Given the description of an element on the screen output the (x, y) to click on. 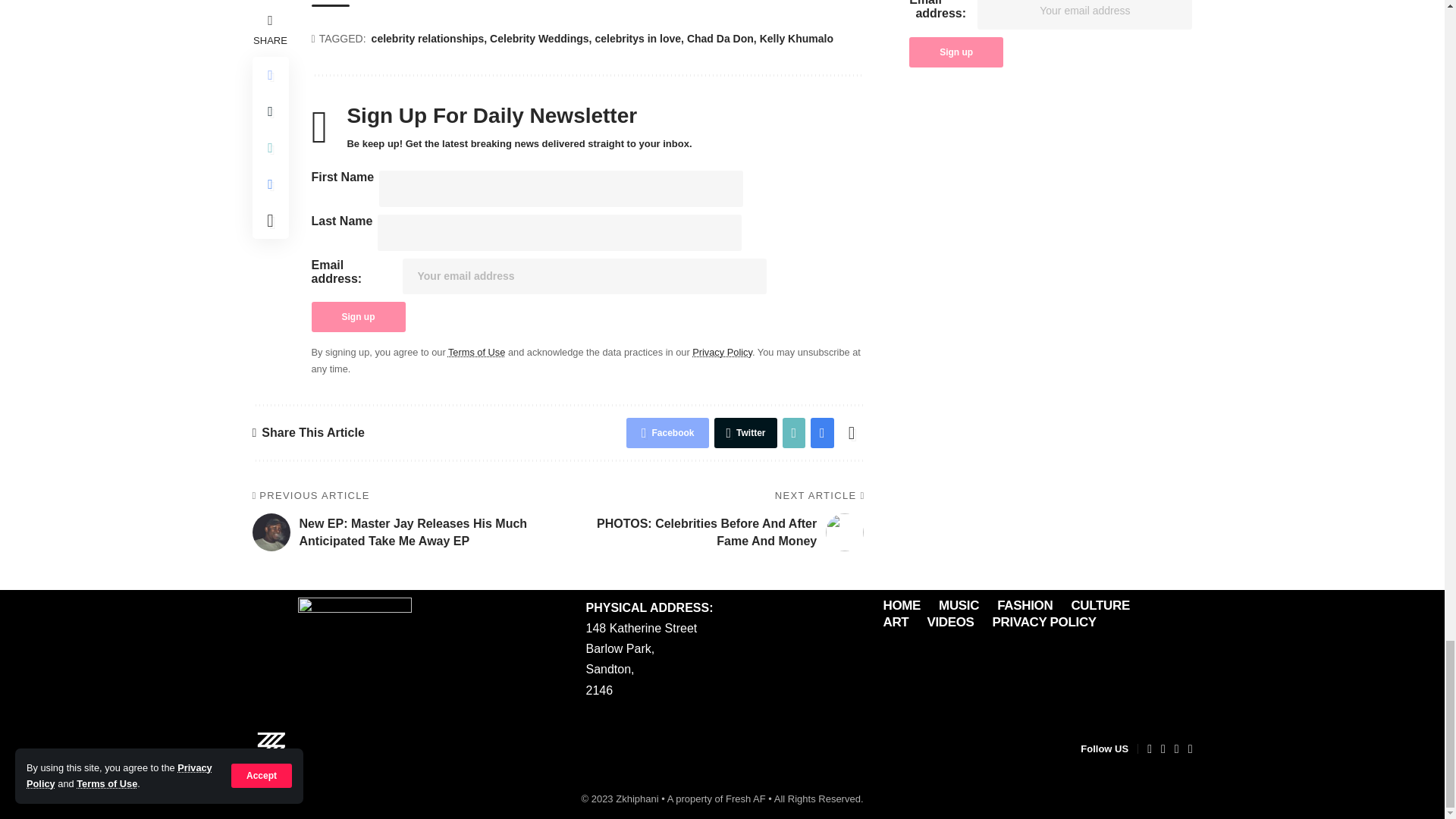
Zkhiphani (270, 749)
Sign up (357, 317)
